Given the description of an element on the screen output the (x, y) to click on. 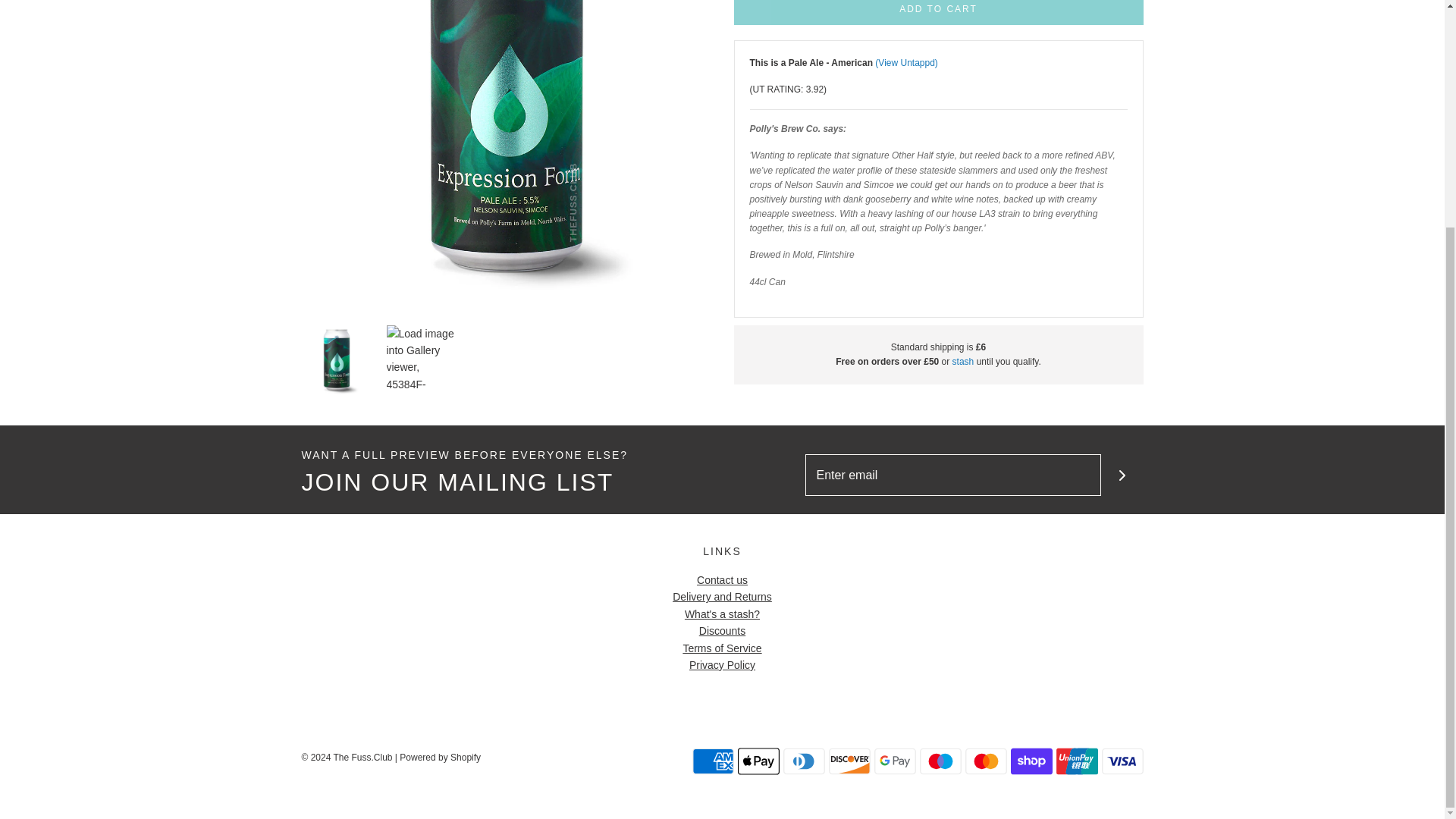
Shop Pay (1030, 761)
Maestro (939, 761)
Visa (1121, 761)
American Express (712, 761)
Diners Club (803, 761)
Google Pay (894, 761)
Mastercard (984, 761)
Privacy Policy (721, 664)
Delivery Information (963, 361)
Union Pay (1076, 761)
Apple Pay (757, 761)
Discover (848, 761)
